Given the description of an element on the screen output the (x, y) to click on. 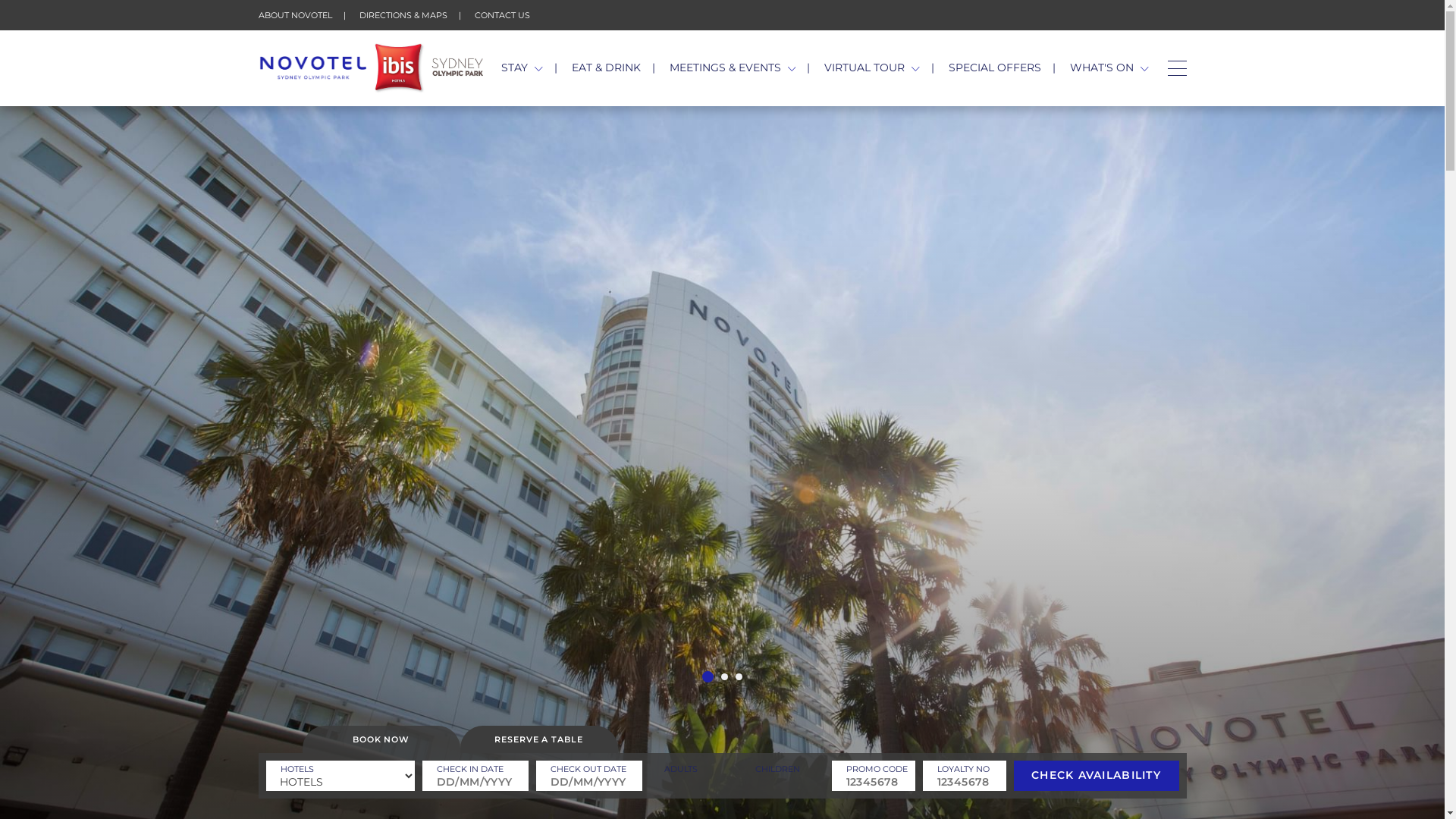
SPECIAL OFFERS Element type: text (994, 67)
VIRTUAL TOUR Element type: text (871, 67)
EAT & DRINK Element type: text (605, 67)
DIRECTIONS & MAPS Element type: text (403, 14)
BOOK NOW Element type: text (380, 739)
WHAT'S ON Element type: text (1109, 67)
STAY Element type: text (521, 67)
CONTACT US Element type: text (502, 14)
MEETINGS & EVENTS Element type: text (732, 67)
RESERVE A TABLE Element type: text (538, 739)
ABOUT NOVOTEL
OPENS IN A NEW TAB. Element type: text (294, 14)
CHECK AVAILABILITY Element type: text (1095, 775)
